Given the description of an element on the screen output the (x, y) to click on. 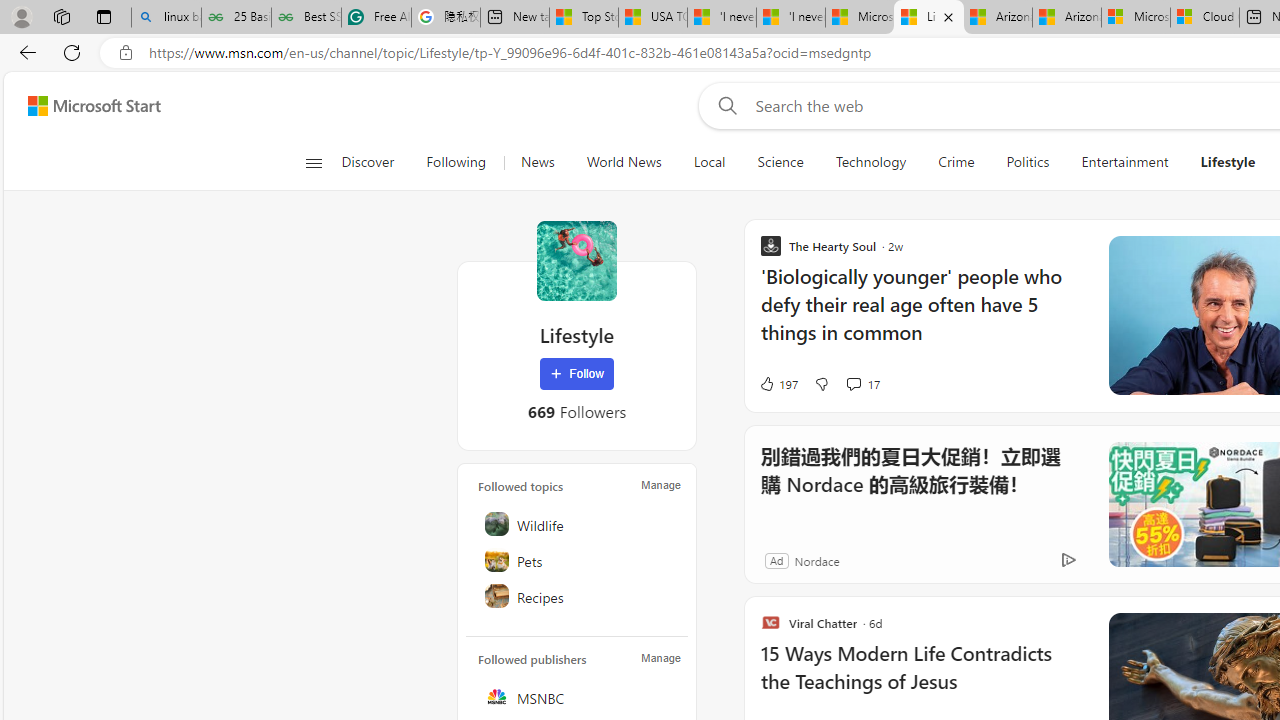
Open navigation menu (313, 162)
Recipes (578, 596)
Top Stories - MSN (584, 17)
Pets (578, 560)
